Given the description of an element on the screen output the (x, y) to click on. 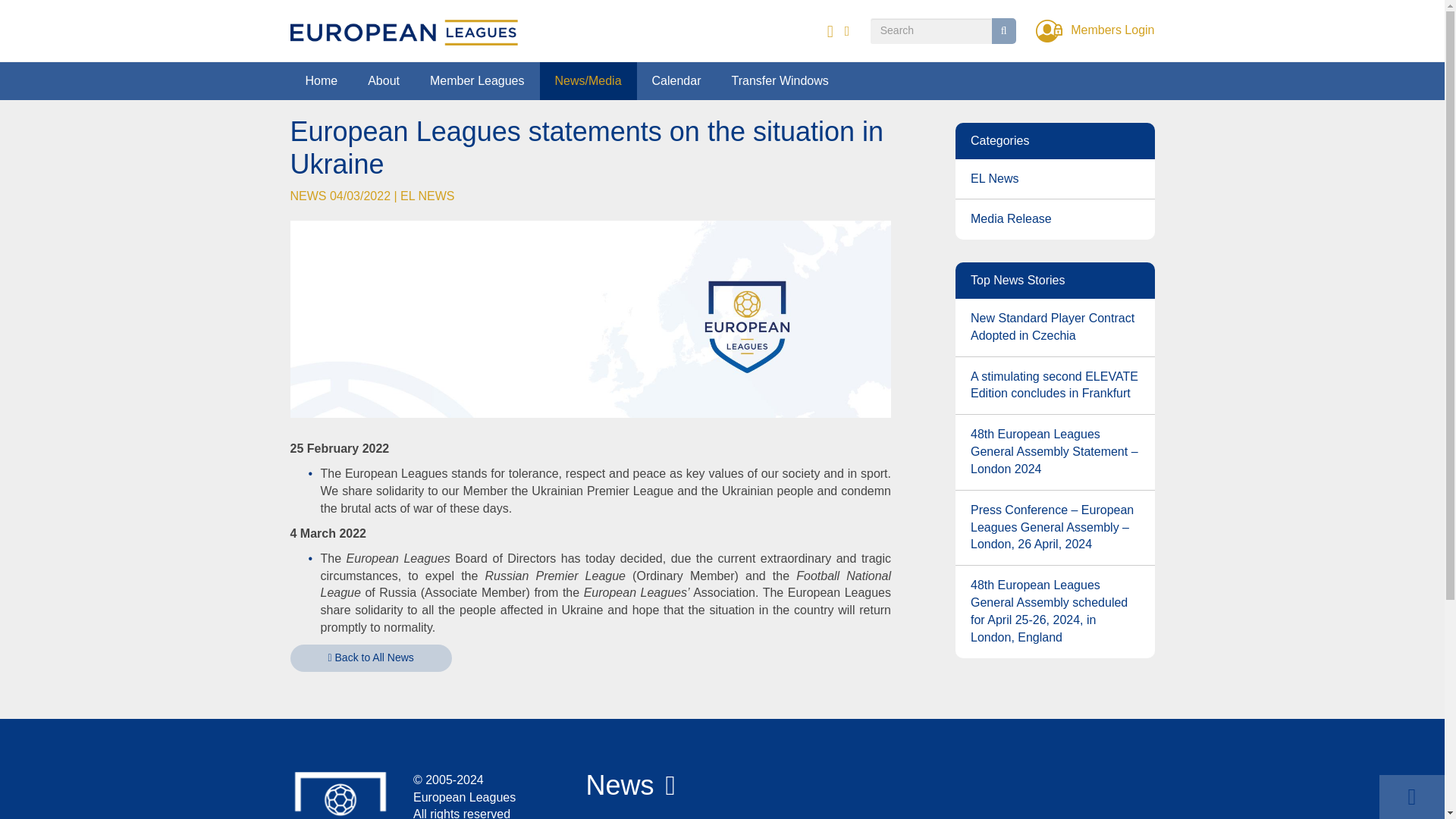
Search for: (930, 31)
Back to All News (370, 657)
Calendar (676, 80)
A stimulating second ELEVATE Edition concludes in Frankfurt (1054, 386)
New Standard Player Contract Adopted in Czechia (1054, 327)
EL NEWS (427, 195)
Member Leagues (477, 80)
Transfer Windows (779, 80)
Home (320, 80)
About (383, 80)
EL News (1054, 178)
News (619, 784)
Members Login (1094, 29)
Media Release (1054, 219)
